Given the description of an element on the screen output the (x, y) to click on. 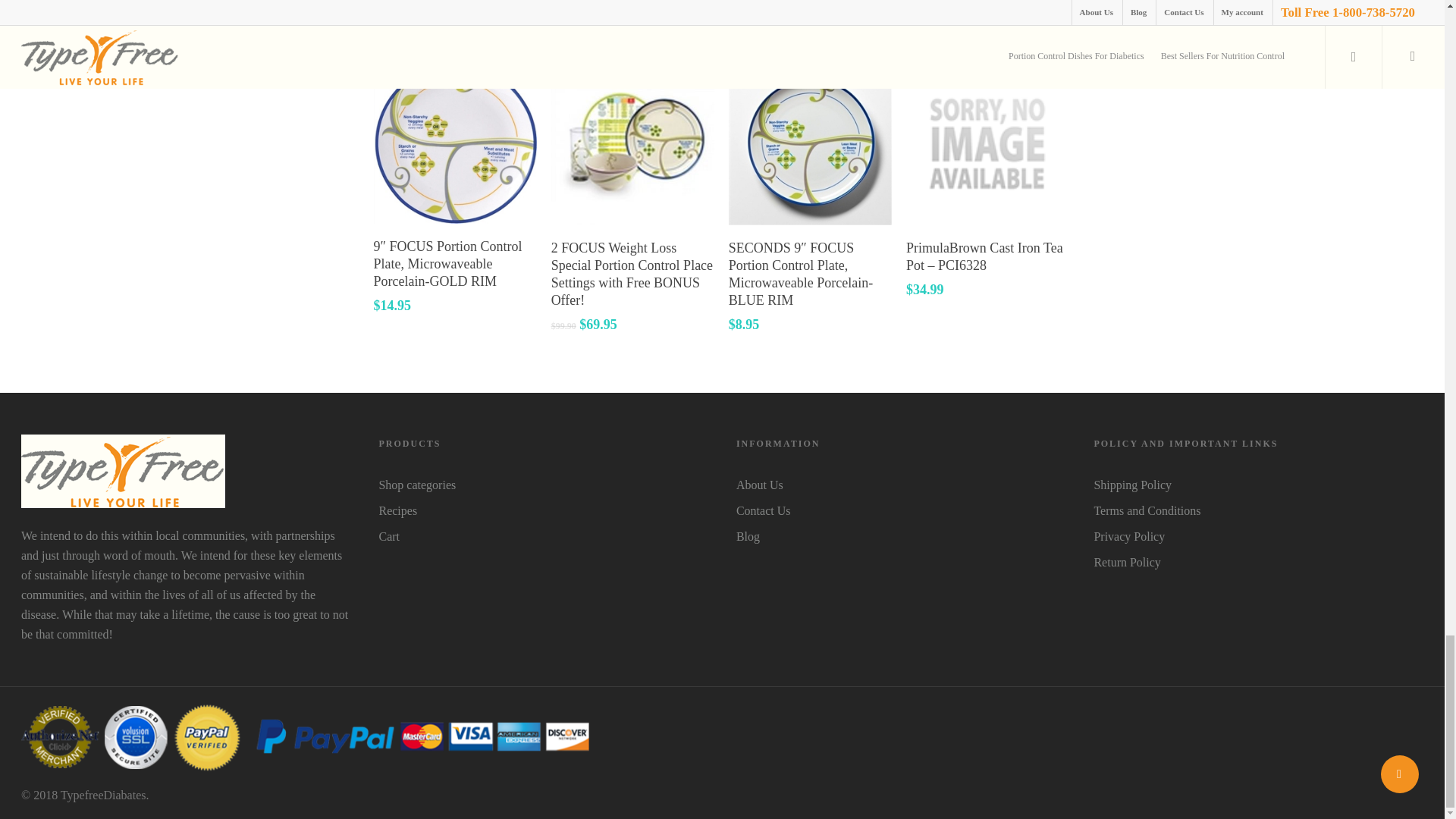
About Us (900, 485)
Cart (542, 537)
Recipes (542, 510)
Shop categories (542, 485)
